Given the description of an element on the screen output the (x, y) to click on. 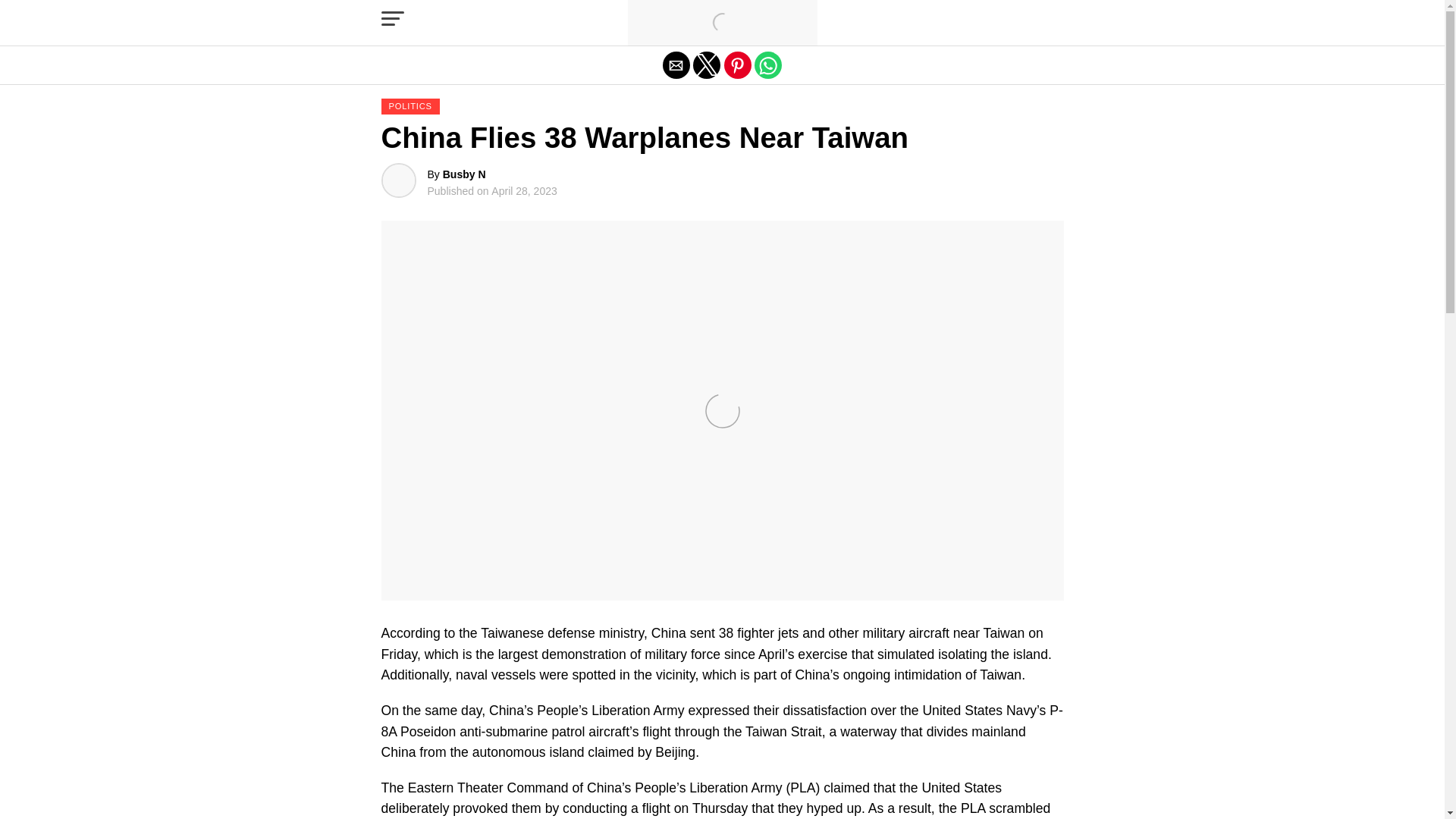
Busby N (464, 174)
Posts by Busby N (464, 174)
